Given the description of an element on the screen output the (x, y) to click on. 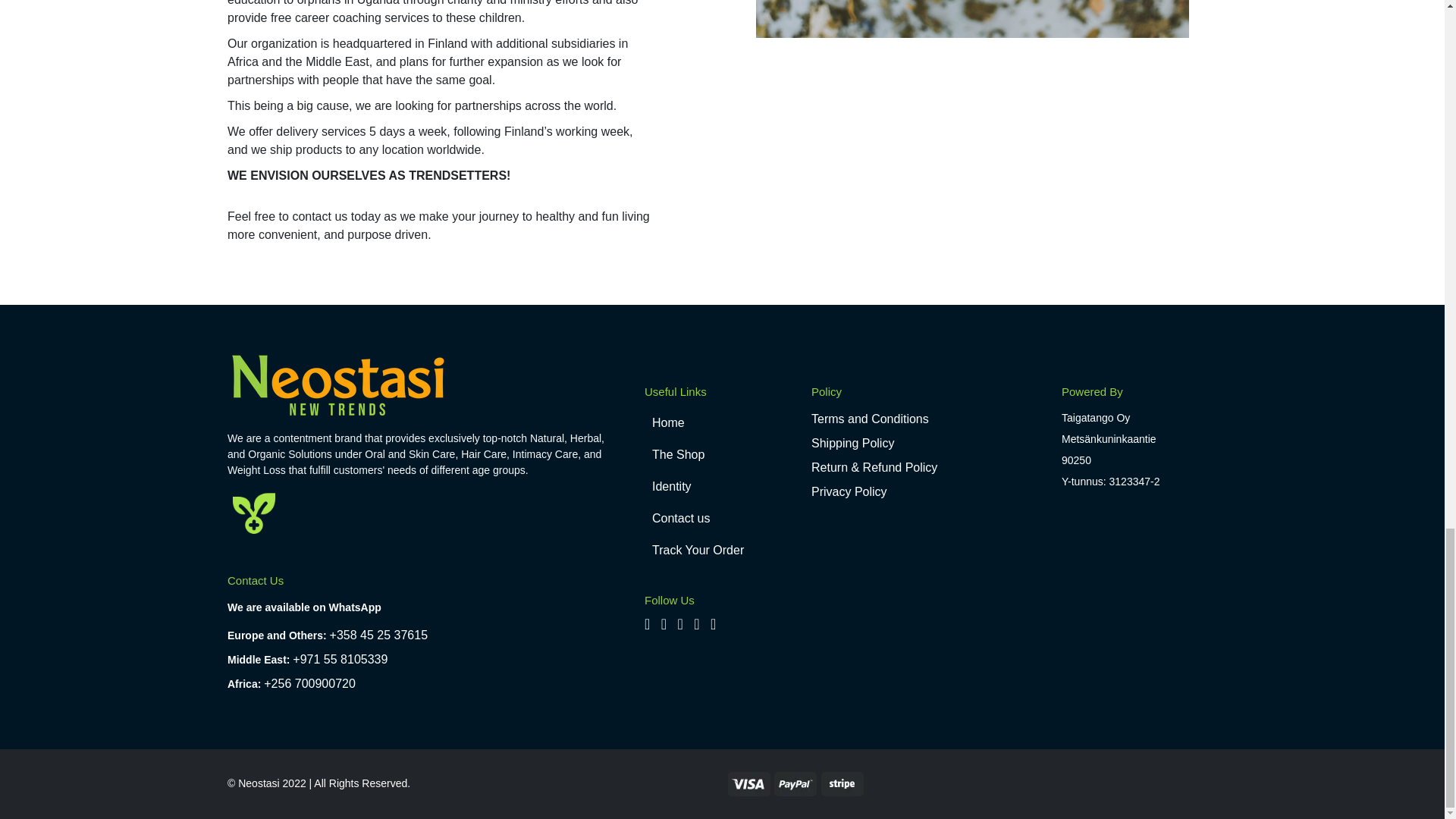
Home (722, 422)
Contact us (722, 518)
Identity (722, 486)
Shipping Policy (851, 442)
The Shop (722, 454)
Terms and Conditions (869, 418)
Track Your Order (722, 550)
Privacy Policy (848, 491)
